Given the description of an element on the screen output the (x, y) to click on. 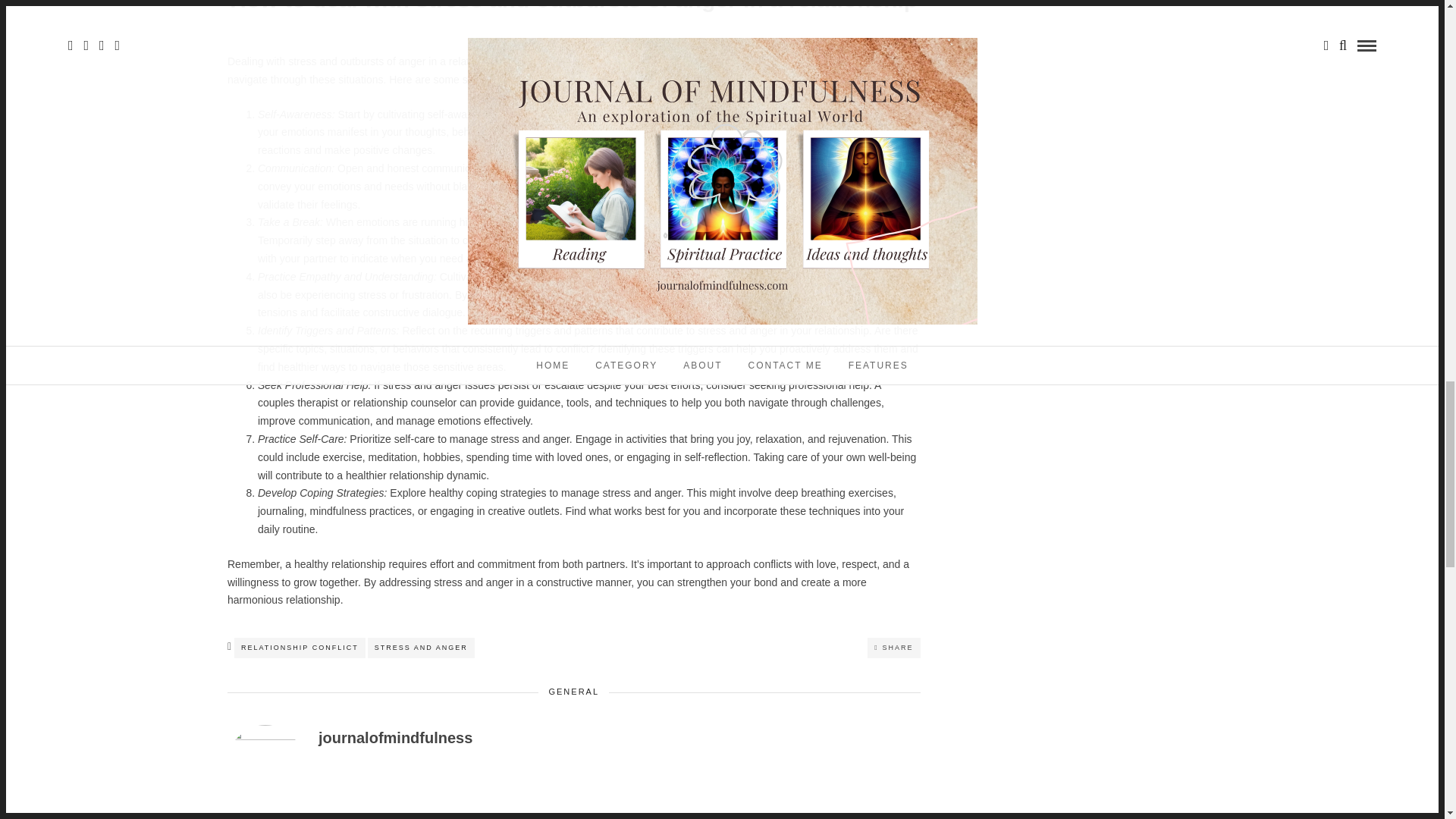
STRESS AND ANGER (421, 648)
RELATIONSHIP CONFLICT (299, 648)
GENERAL (573, 691)
